Given the description of an element on the screen output the (x, y) to click on. 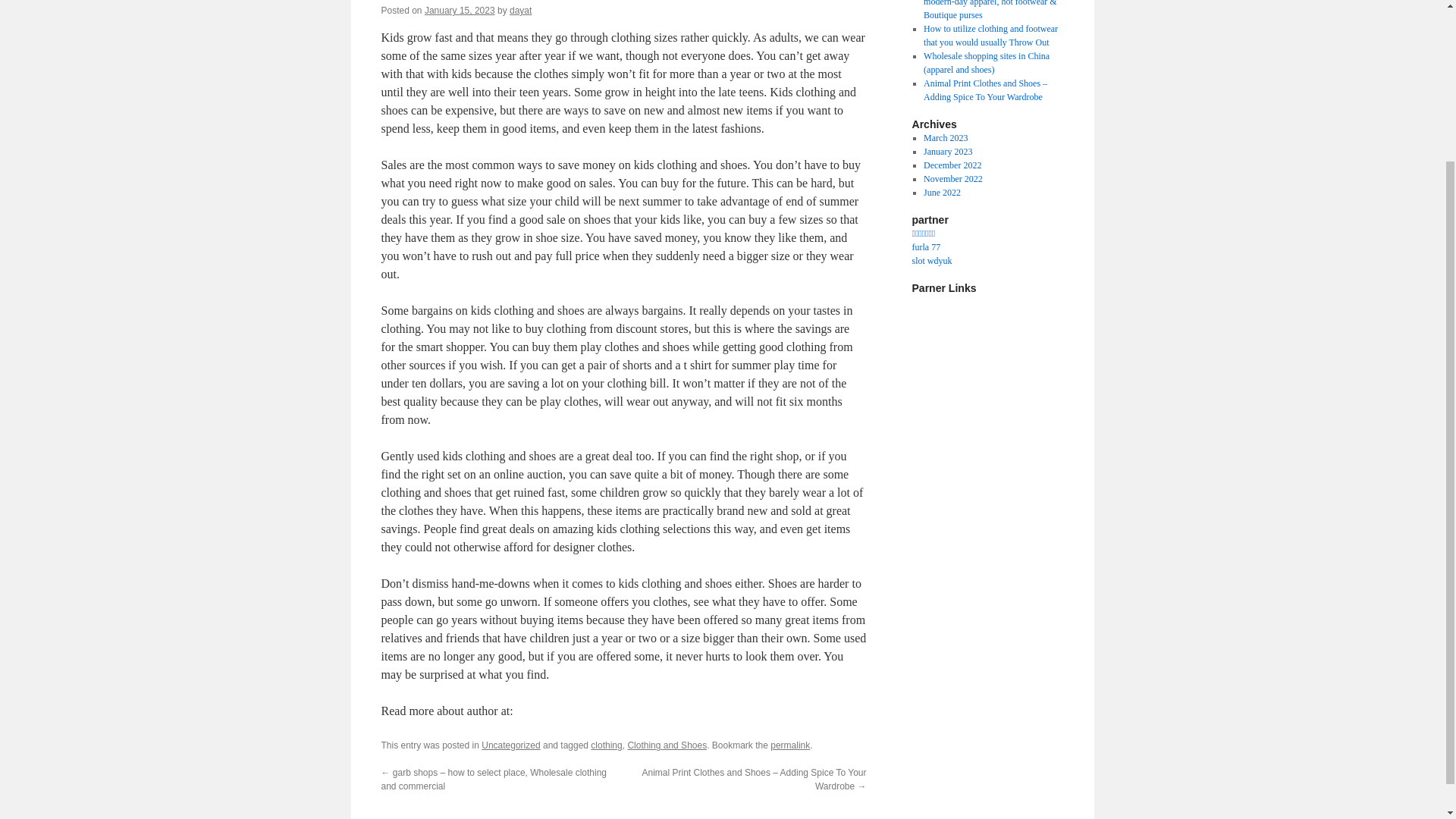
slot wdyuk (931, 260)
permalink (789, 745)
clothing (606, 745)
November 2022 (952, 178)
View all posts in Uncategorized (510, 745)
June 2022 (941, 192)
7:38 am (460, 9)
March 2023 (945, 137)
January 15, 2023 (460, 9)
